Given the description of an element on the screen output the (x, y) to click on. 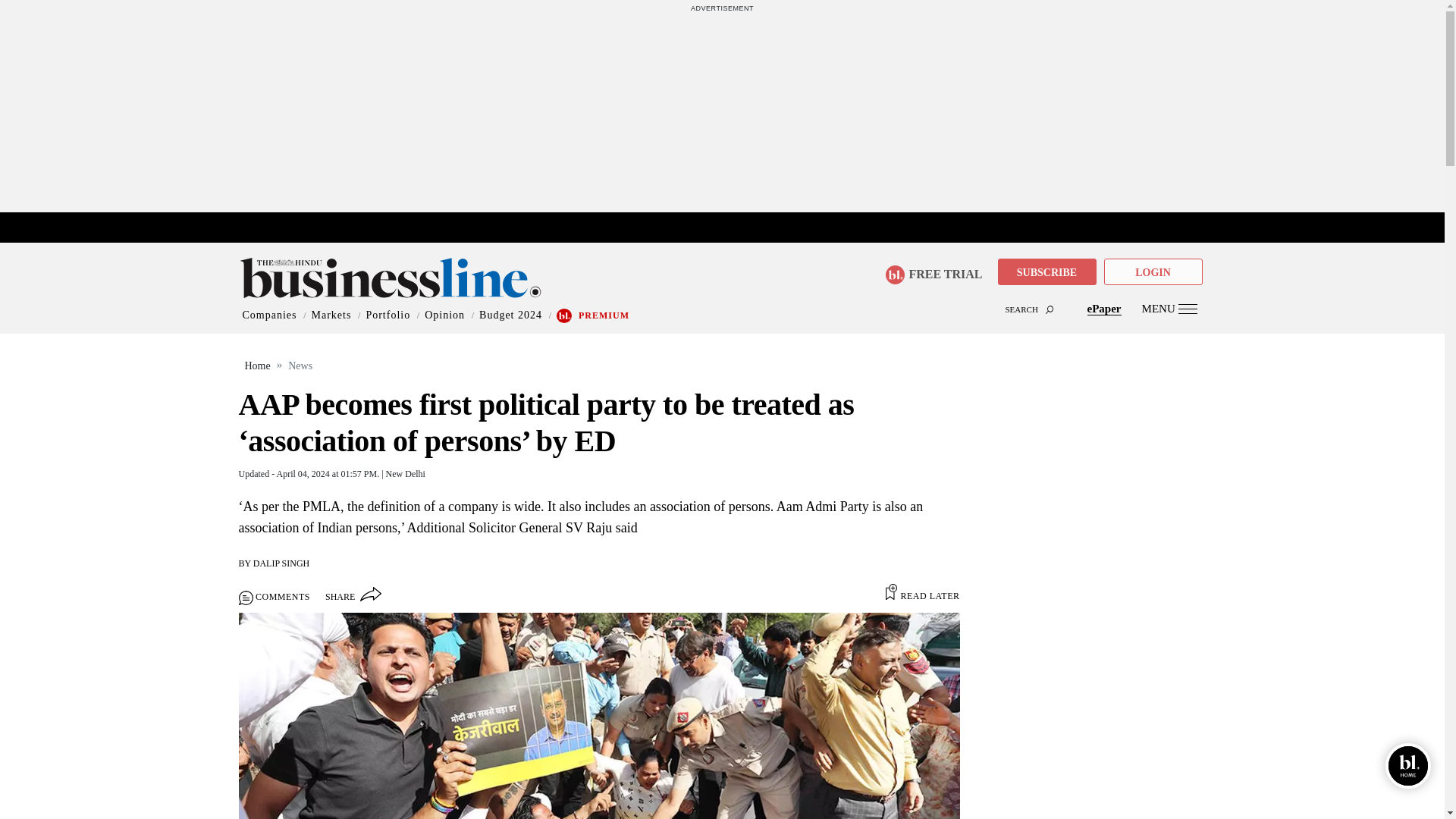
SUBSCRIBE (1046, 270)
Budget 2024 (510, 315)
FREE TRIAL (933, 275)
marketupdate (729, 228)
Companies (270, 315)
Markets (330, 315)
FREE TRIAL (938, 269)
ePaper (1104, 308)
LOGIN (1152, 270)
PREMIUM (603, 315)
SUBSCRIBE (1046, 272)
SEARCH (721, 295)
Opinion (444, 315)
